Given the description of an element on the screen output the (x, y) to click on. 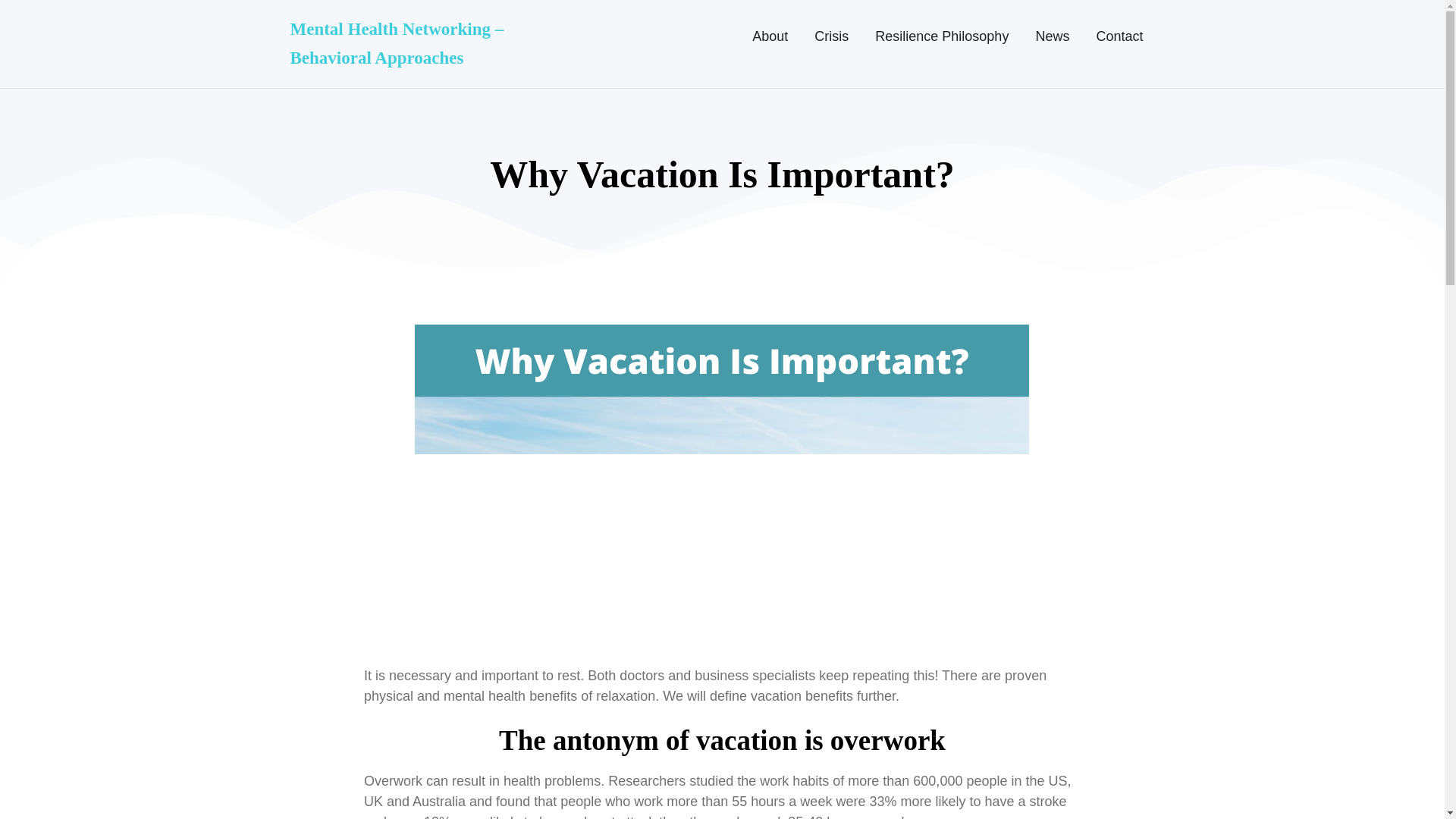
About (770, 36)
Contact (1119, 36)
Crisis (831, 36)
Resilience Philosophy (941, 36)
News (1051, 36)
